Given the description of an element on the screen output the (x, y) to click on. 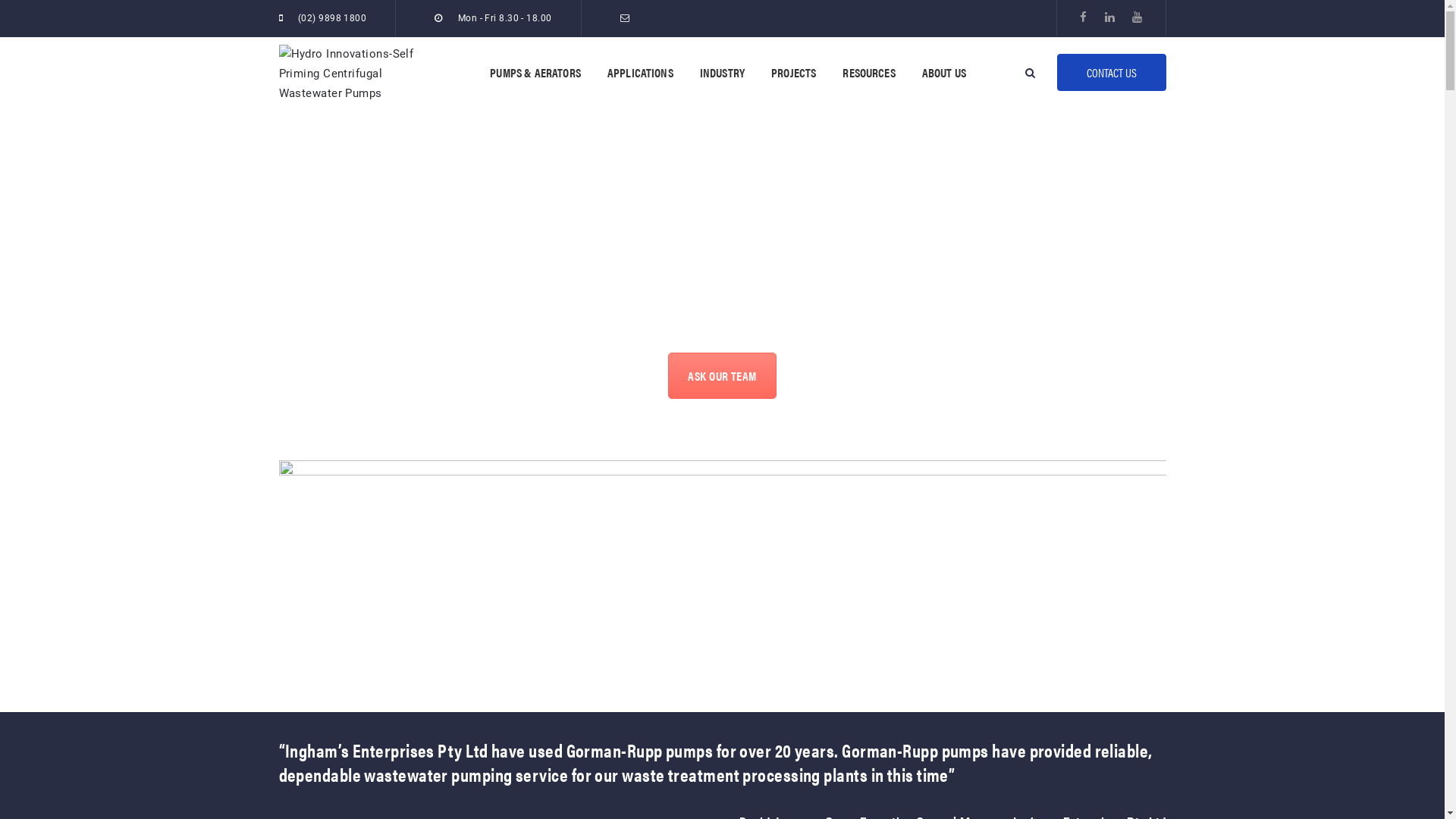
RESOURCES Element type: text (868, 72)
Facebook Element type: hover (1082, 17)
ASK OUR TEAM Element type: text (721, 375)
PROJECTS Element type: text (793, 72)
YouTube Element type: hover (1137, 17)
APPLICATIONS Element type: text (640, 72)
CONTACT US Element type: text (1111, 72)
INDUSTRY Element type: text (721, 72)
(02) 9898 1800 Element type: text (332, 17)
ABOUT US Element type: text (944, 72)
PUMPS & AERATORS Element type: text (534, 72)
LinkedIn Element type: hover (1109, 17)
